Given the description of an element on the screen output the (x, y) to click on. 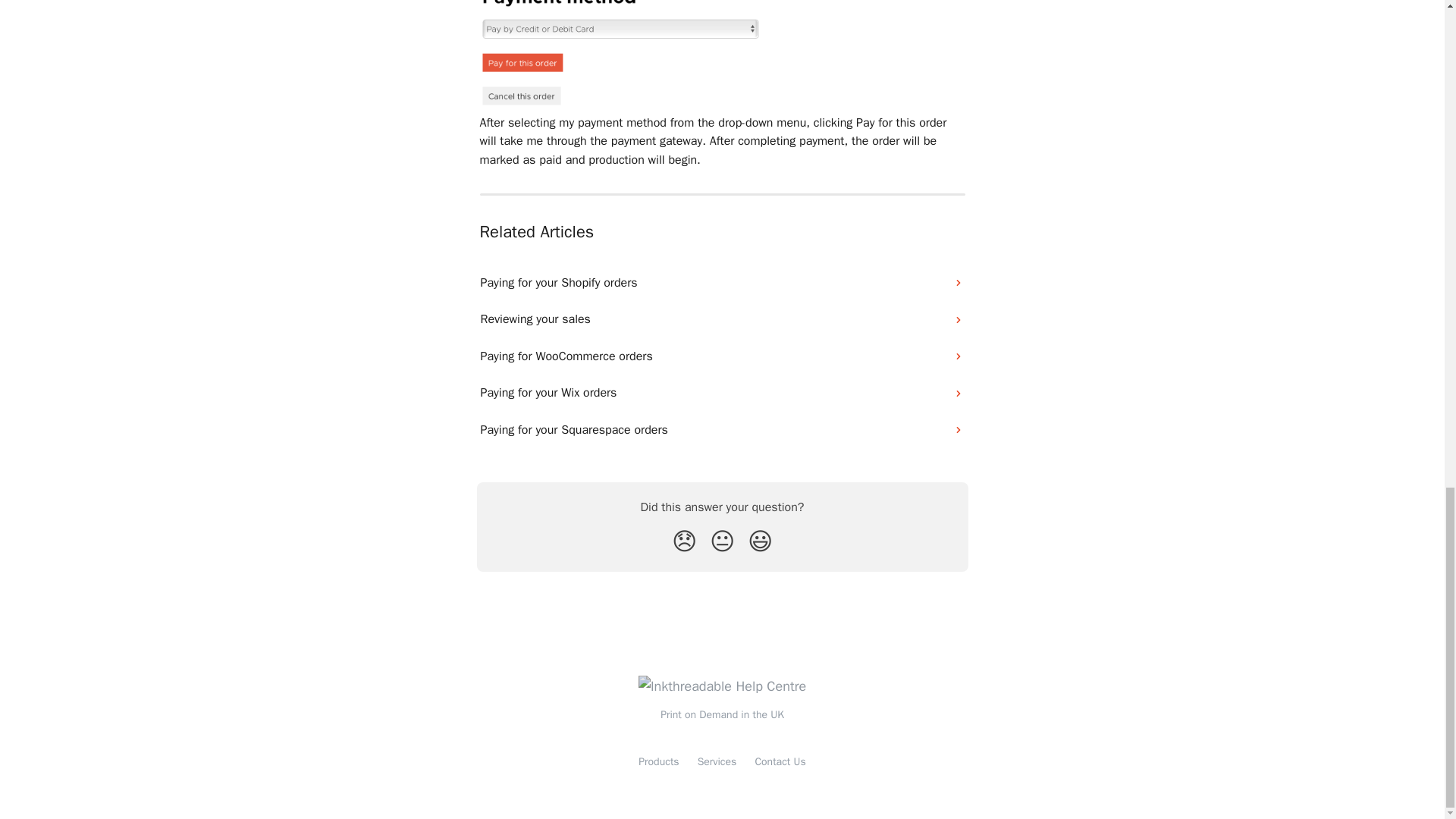
Reviewing your sales (722, 319)
Paying for your Wix orders (722, 392)
Products (658, 761)
Paying for your Shopify orders (722, 282)
Paying for WooCommerce orders (722, 356)
Services (716, 761)
Paying for your Squarespace orders (722, 429)
Contact Us (779, 761)
